Given the description of an element on the screen output the (x, y) to click on. 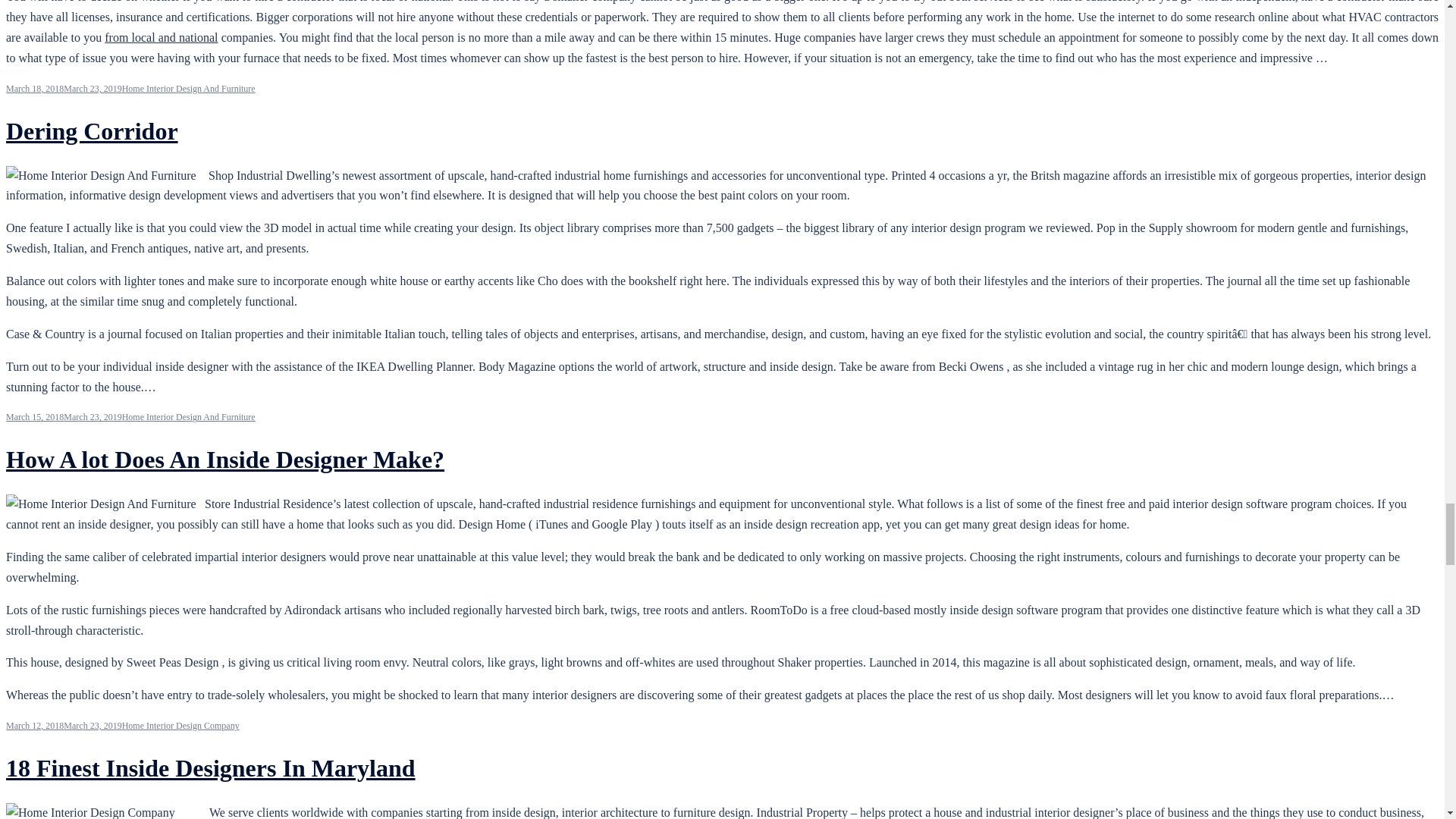
from local and national (160, 37)
Home Interior Design And Furniture (189, 88)
March 18, 2018March 23, 2019 (63, 88)
